Given the description of an element on the screen output the (x, y) to click on. 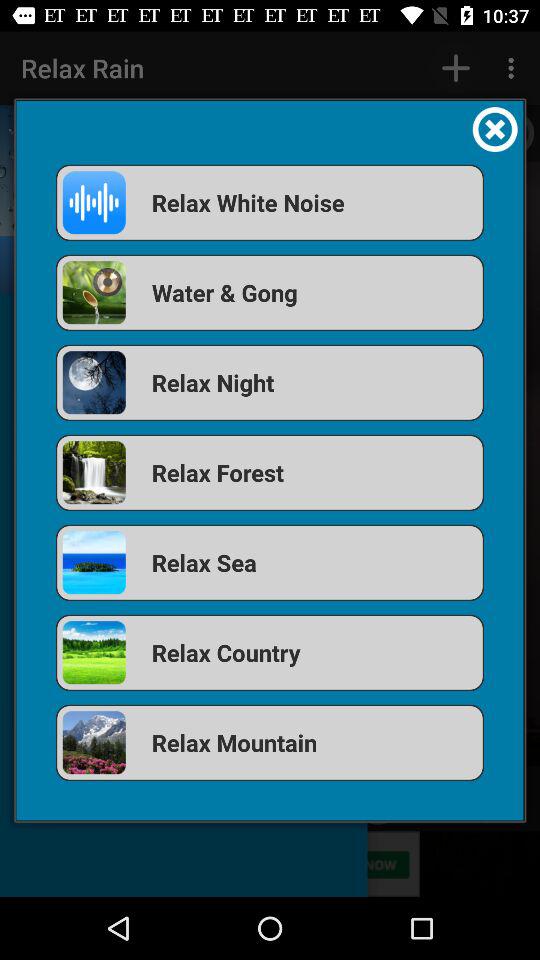
tap item below relax night app (269, 472)
